Given the description of an element on the screen output the (x, y) to click on. 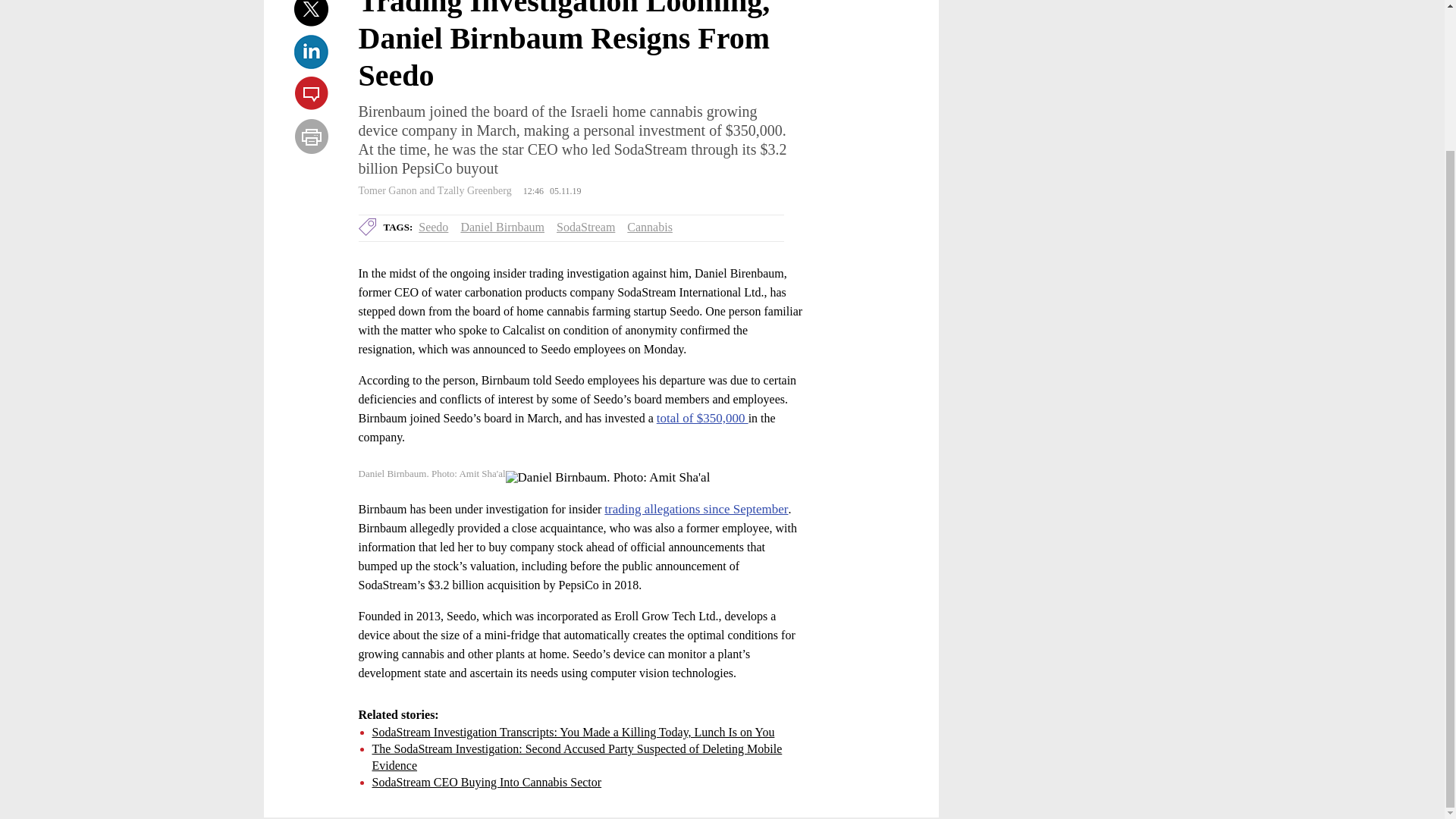
Daniel Birnbaum (502, 226)
Linkedin (311, 51)
Talkback (311, 93)
trading allegations since September (695, 509)
SodaStream (585, 226)
SodaStream CEO Buying Into Cannabis Sector (486, 781)
Seedo (433, 226)
Cannabis (649, 226)
